Given the description of an element on the screen output the (x, y) to click on. 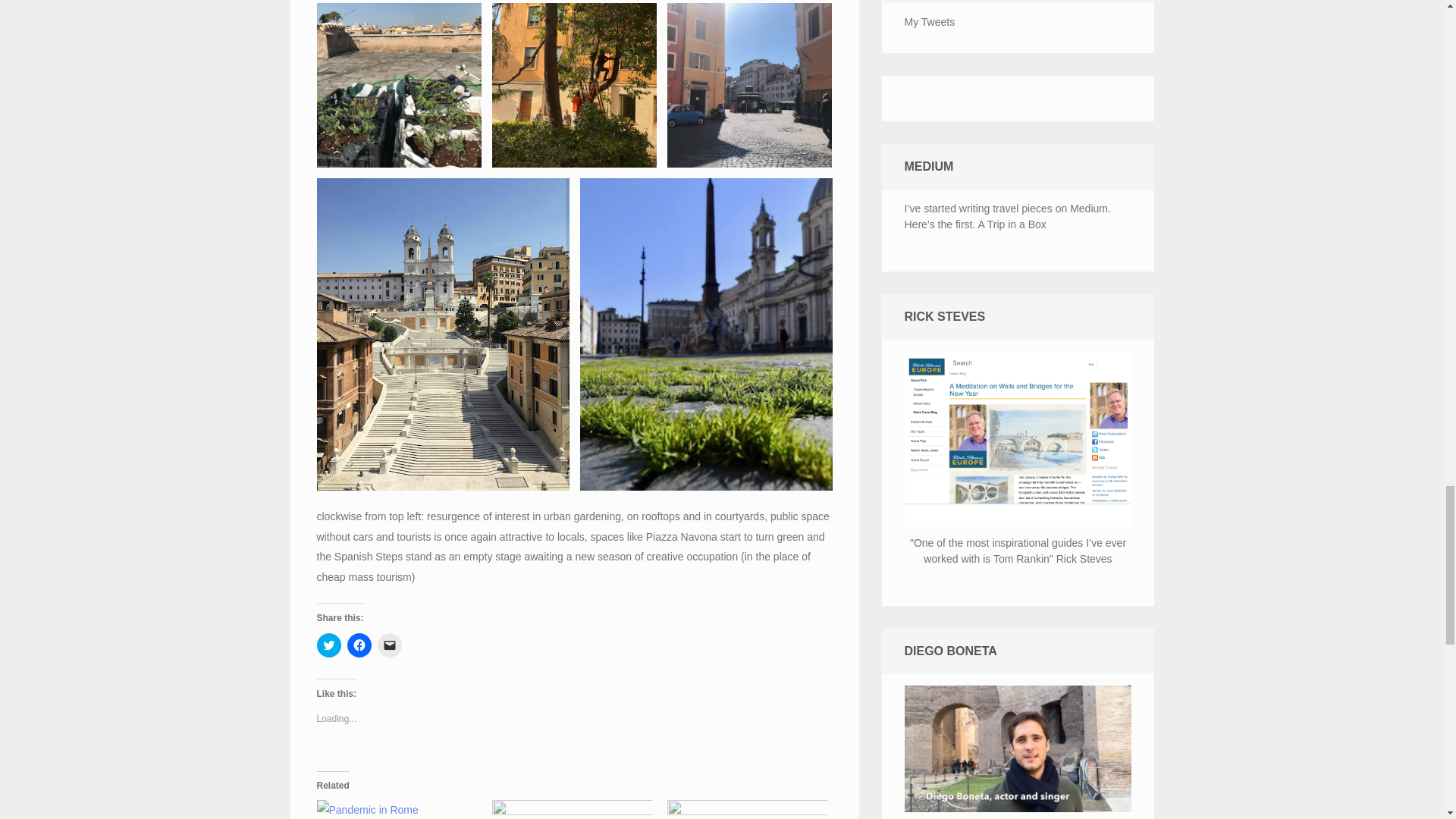
Click to share on Facebook (359, 645)
Learning from Afar (746, 809)
Click to share on Twitter (328, 645)
Click to email a link to a friend (389, 645)
Roman Winter, Roman Pandemic (571, 809)
Lockdown (397, 809)
